Given the description of an element on the screen output the (x, y) to click on. 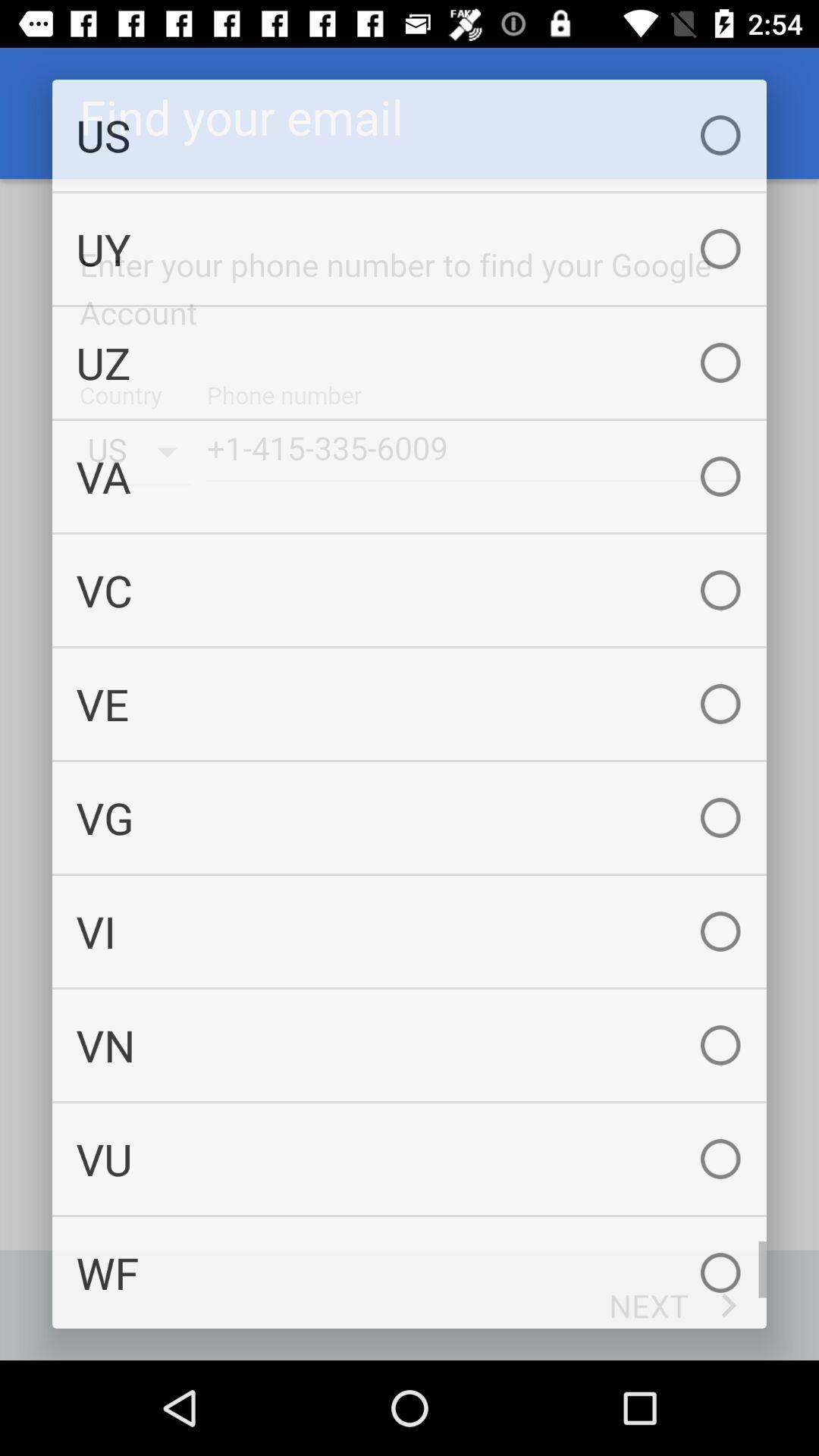
open the checkbox below the vi icon (409, 1045)
